Given the description of an element on the screen output the (x, y) to click on. 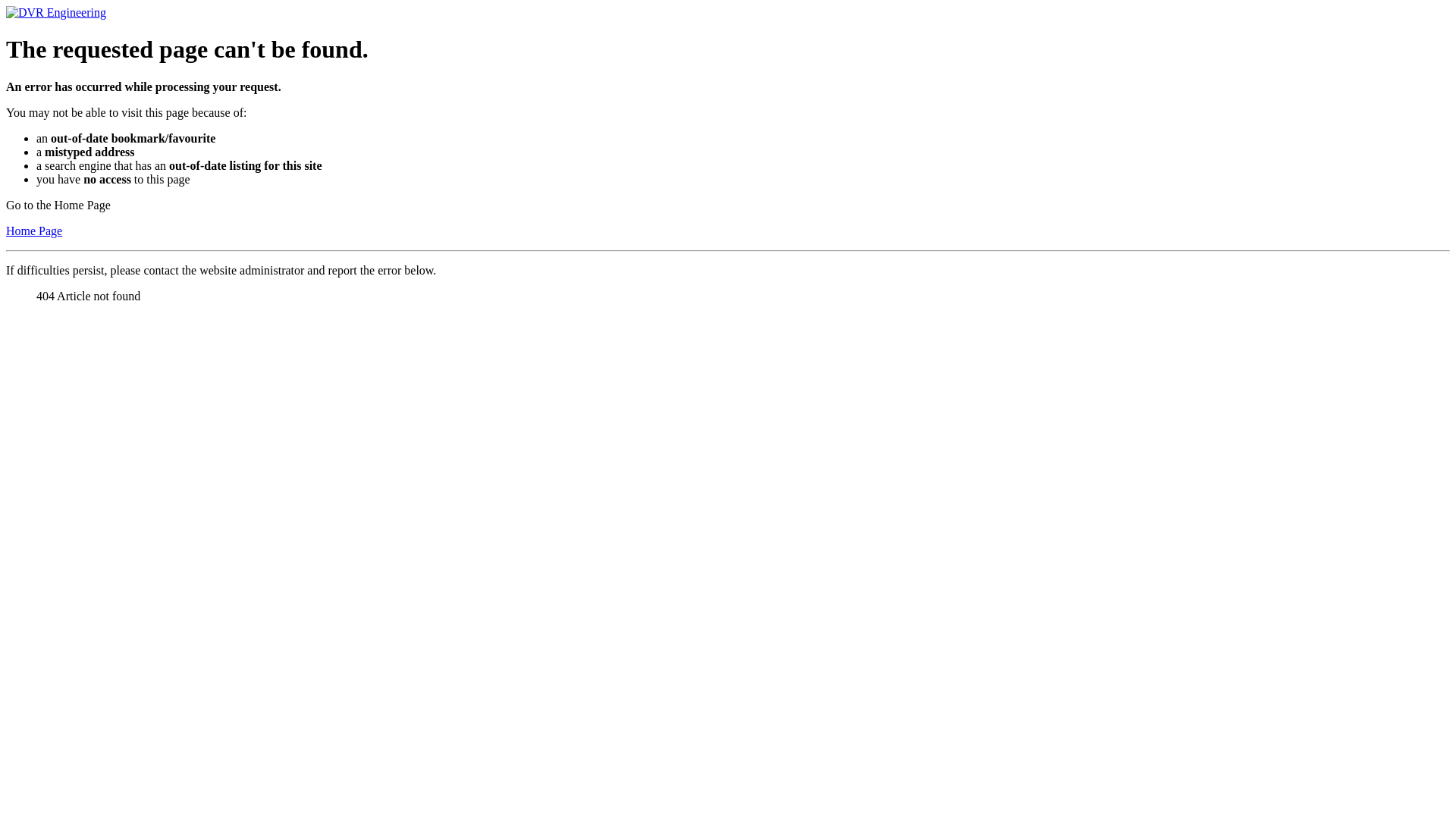
Home Page Element type: text (34, 230)
